Given the description of an element on the screen output the (x, y) to click on. 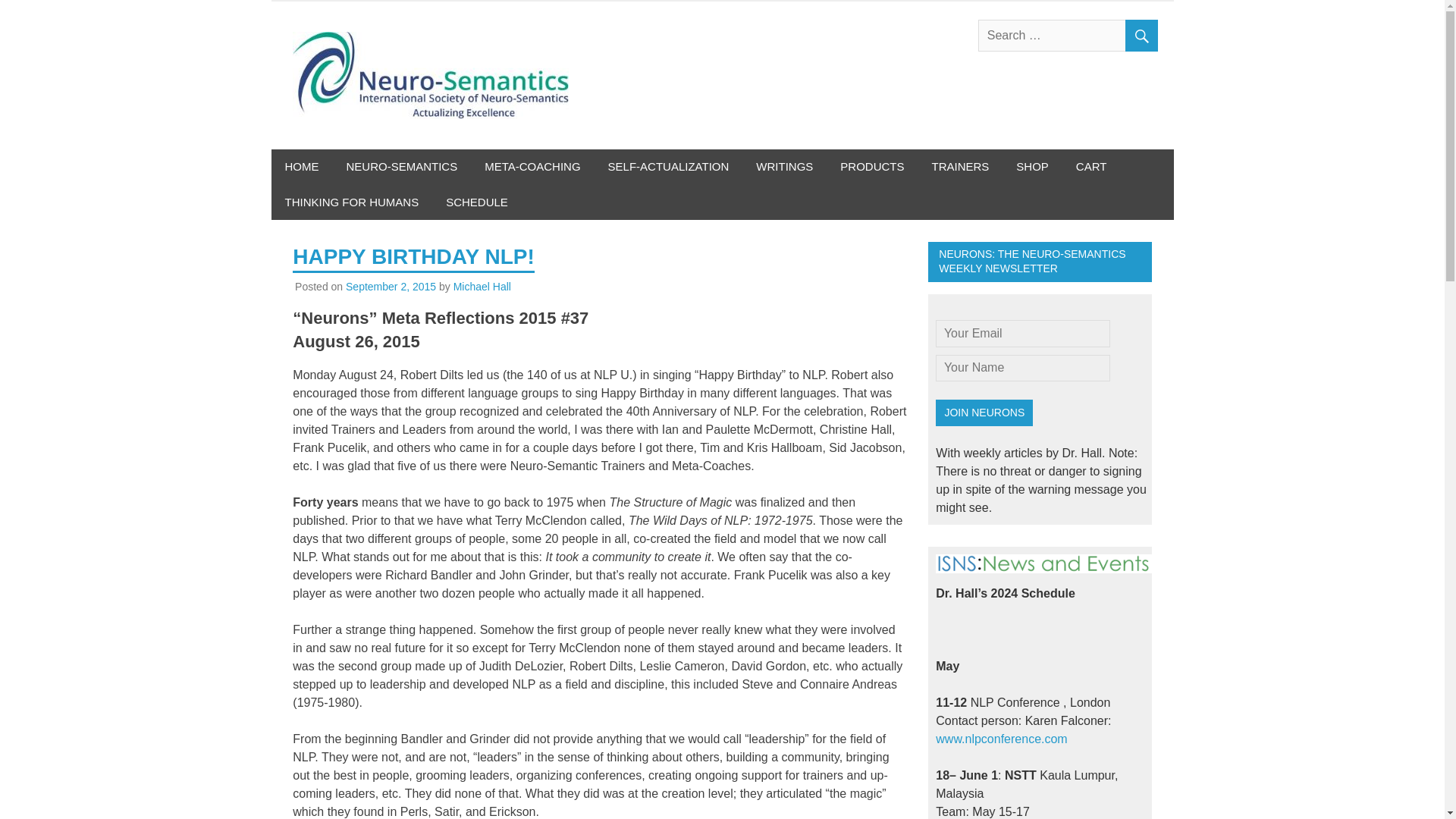
Join Neurons (984, 412)
12:14 pm (390, 286)
HOME (301, 167)
View all posts by Michael Hall (481, 286)
NEURO-SEMANTICS (400, 167)
META-COACHING (532, 167)
WRITINGS (784, 167)
SELF-ACTUALIZATION (668, 167)
